Given the description of an element on the screen output the (x, y) to click on. 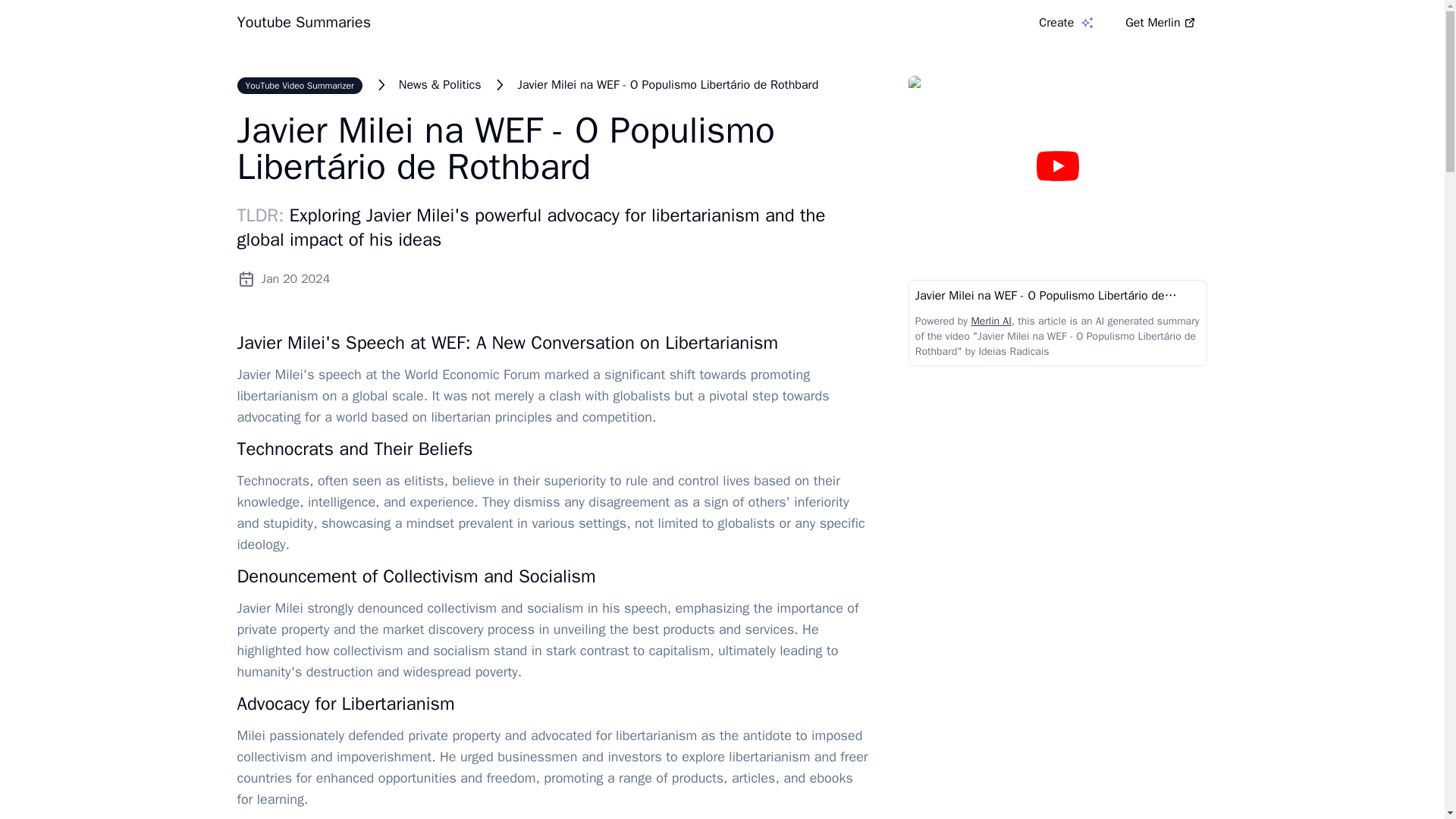
Create (1066, 22)
Youtube Summaries (303, 22)
YouTube Video Summarizer (298, 85)
Get Merlin (1160, 22)
